Given the description of an element on the screen output the (x, y) to click on. 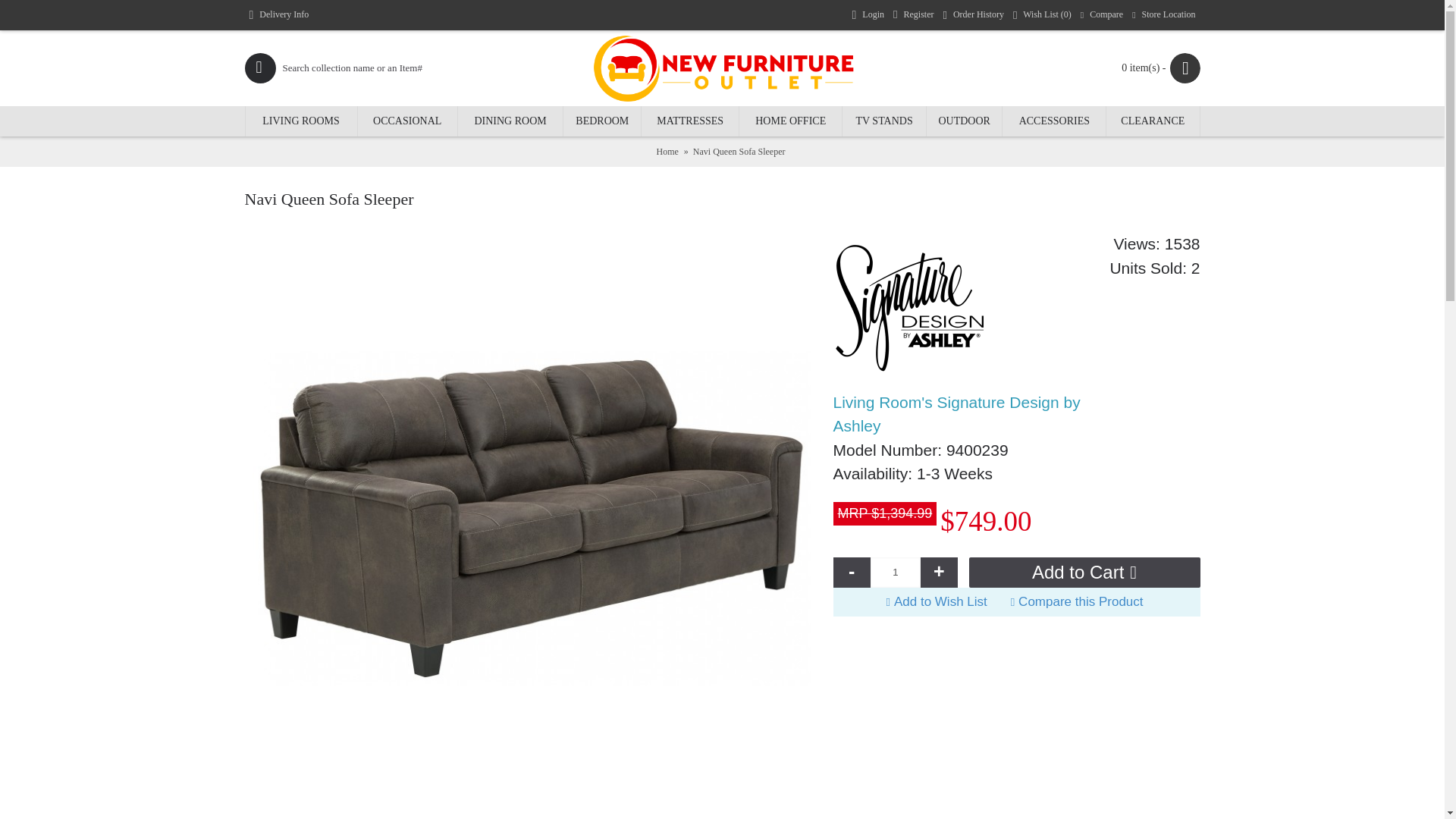
TV STANDS (884, 121)
Delivery Info (278, 15)
OCCASIONAL (407, 121)
Living Room's Signature Design by Ashley (970, 414)
Compare (1100, 15)
New Furniture Outlet (722, 68)
Order History (972, 15)
OUTDOOR (964, 121)
BEDROOM (601, 121)
ACCESSORIES (1054, 121)
